Given the description of an element on the screen output the (x, y) to click on. 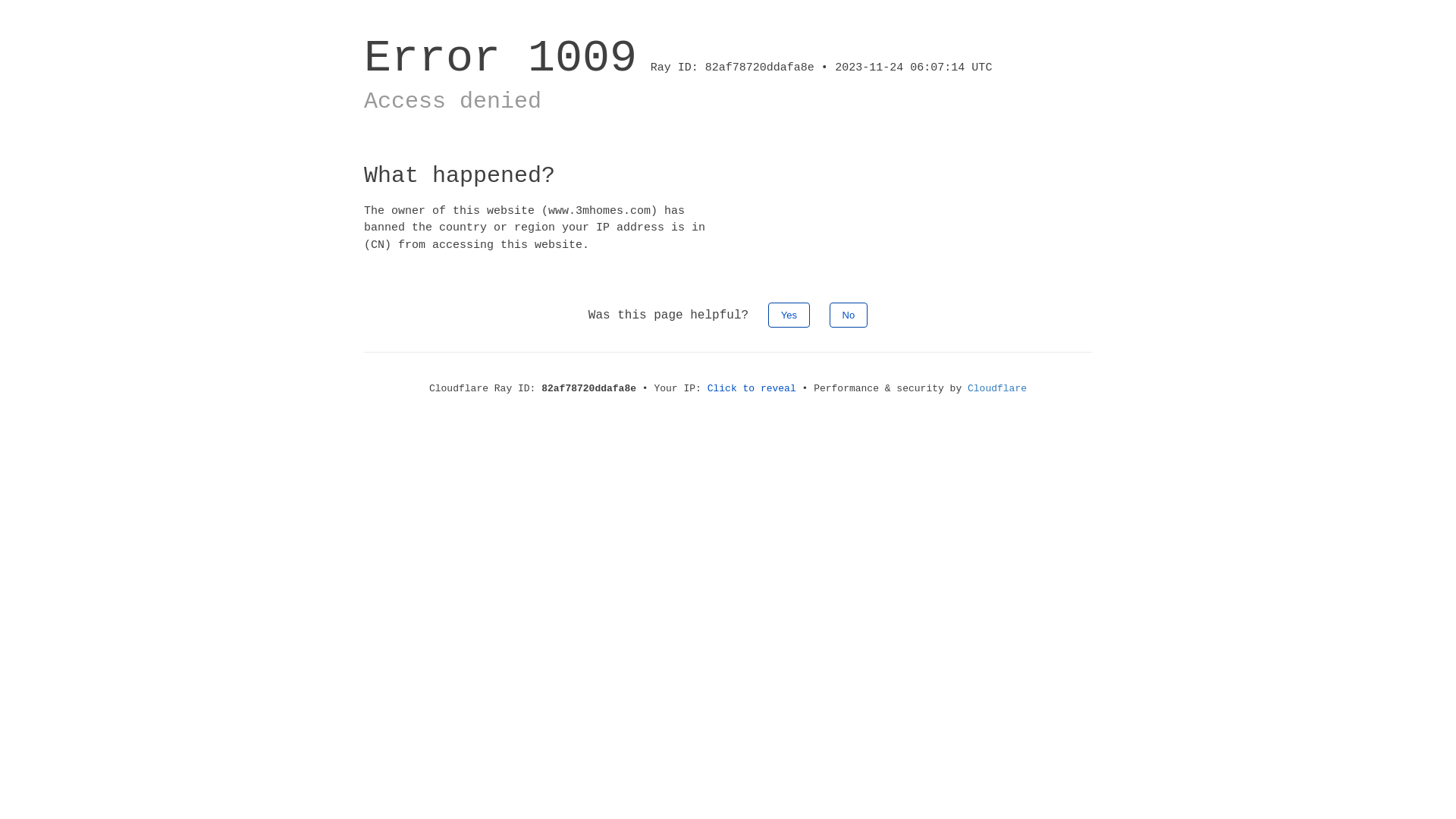
No Element type: text (848, 314)
Cloudflare Element type: text (996, 388)
Click to reveal Element type: text (751, 388)
Yes Element type: text (788, 314)
